Given the description of an element on the screen output the (x, y) to click on. 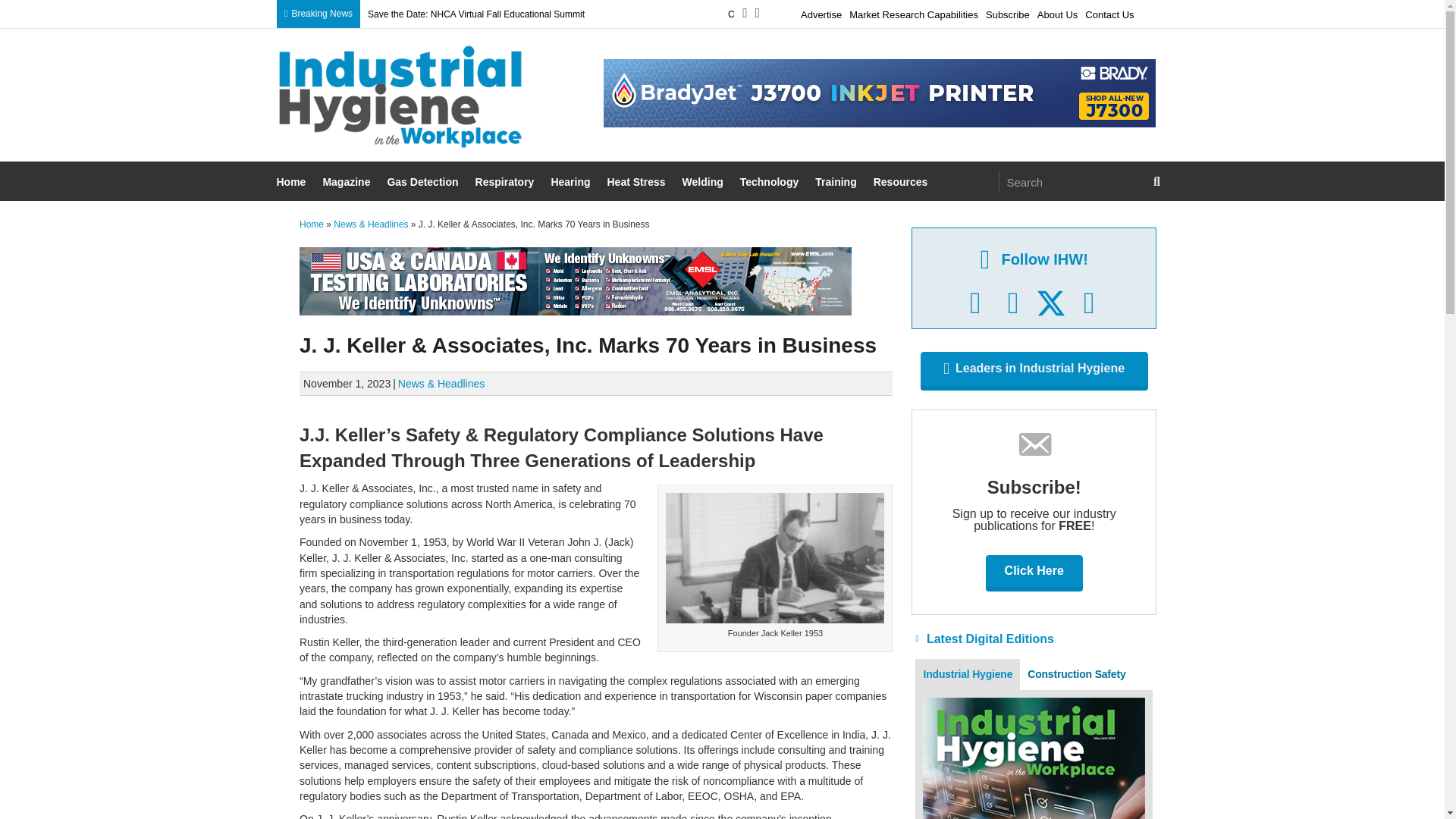
Advertise (820, 11)
Technology (771, 182)
Resources (902, 182)
Heat Stress (637, 182)
Market Research Capabilities (913, 11)
Save the Date: NHCA Virtual Fall Educational Summit (476, 14)
Facebook (975, 303)
ihw-400 (400, 96)
Subscribe (1007, 11)
Contact Us (1109, 11)
Respiratory (507, 182)
YouTube (1088, 303)
Welding (704, 182)
Search (1071, 181)
LinkedIn (1012, 303)
